Given the description of an element on the screen output the (x, y) to click on. 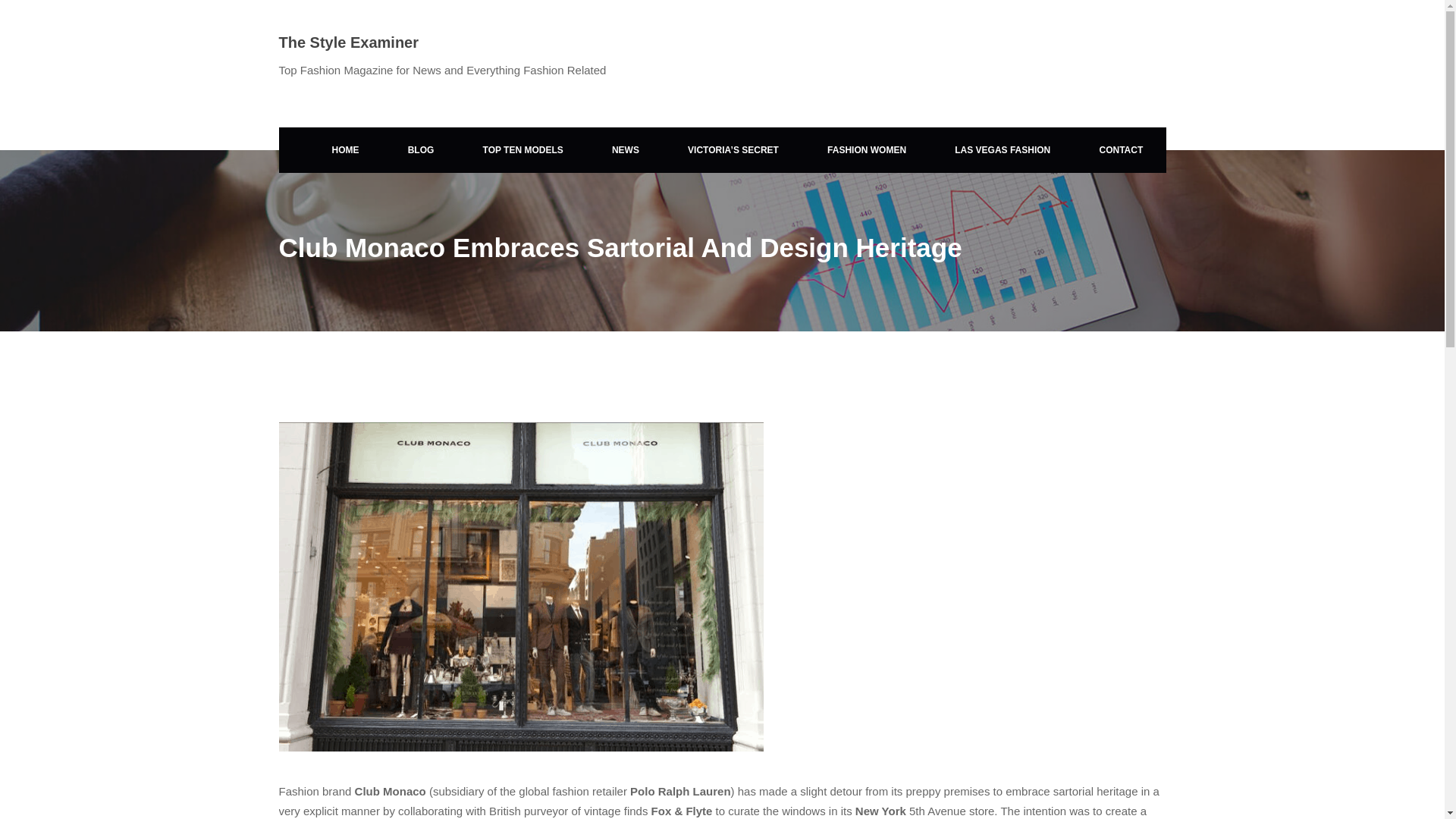
HOME (344, 149)
CONTACT (1120, 149)
BLOG (421, 149)
FASHION WOMEN (866, 149)
TOP TEN MODELS (523, 149)
NEWS (625, 149)
LAS VEGAS FASHION (1002, 149)
The Style Examiner (349, 42)
